Given the description of an element on the screen output the (x, y) to click on. 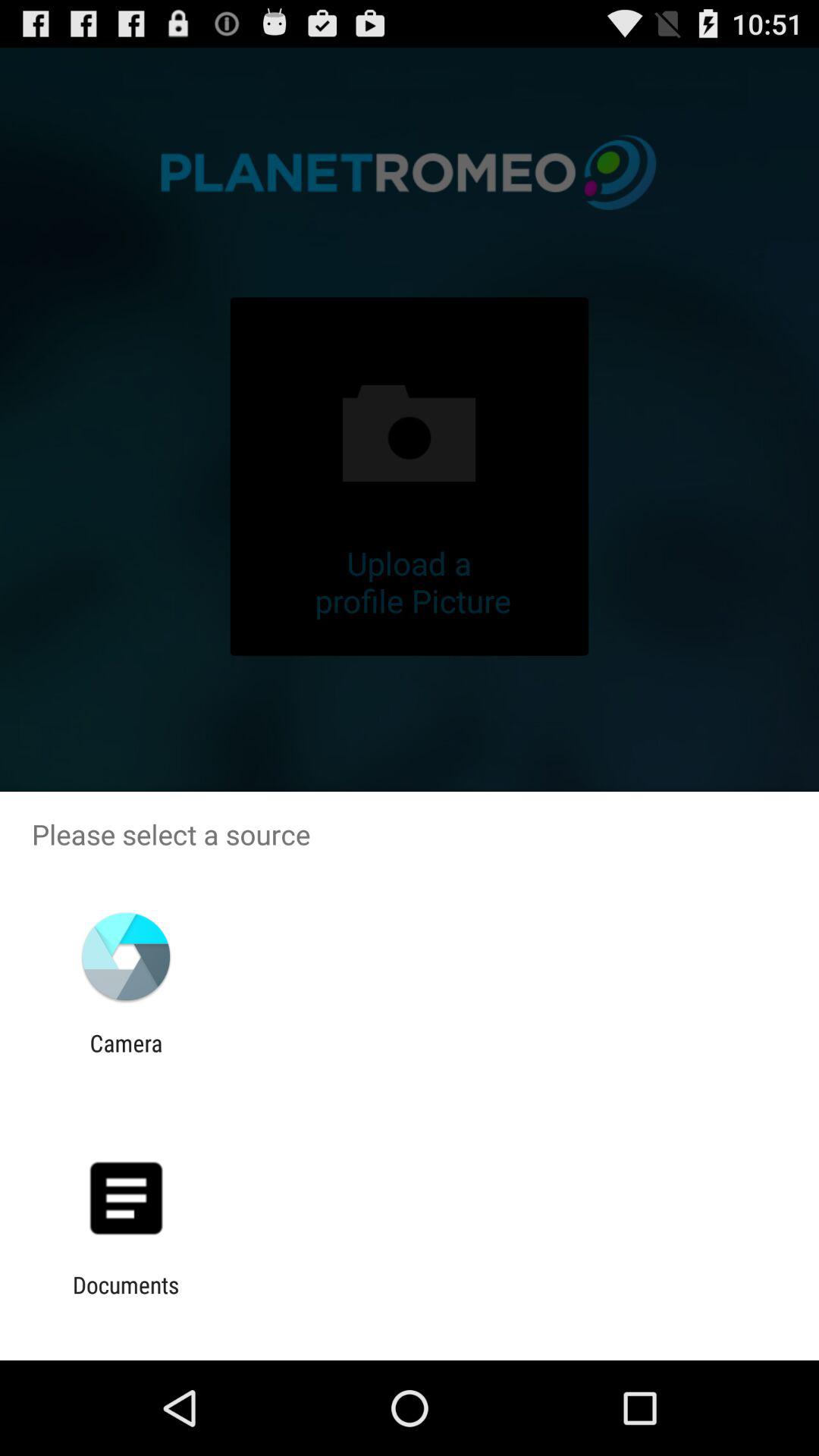
press camera (125, 1056)
